Given the description of an element on the screen output the (x, y) to click on. 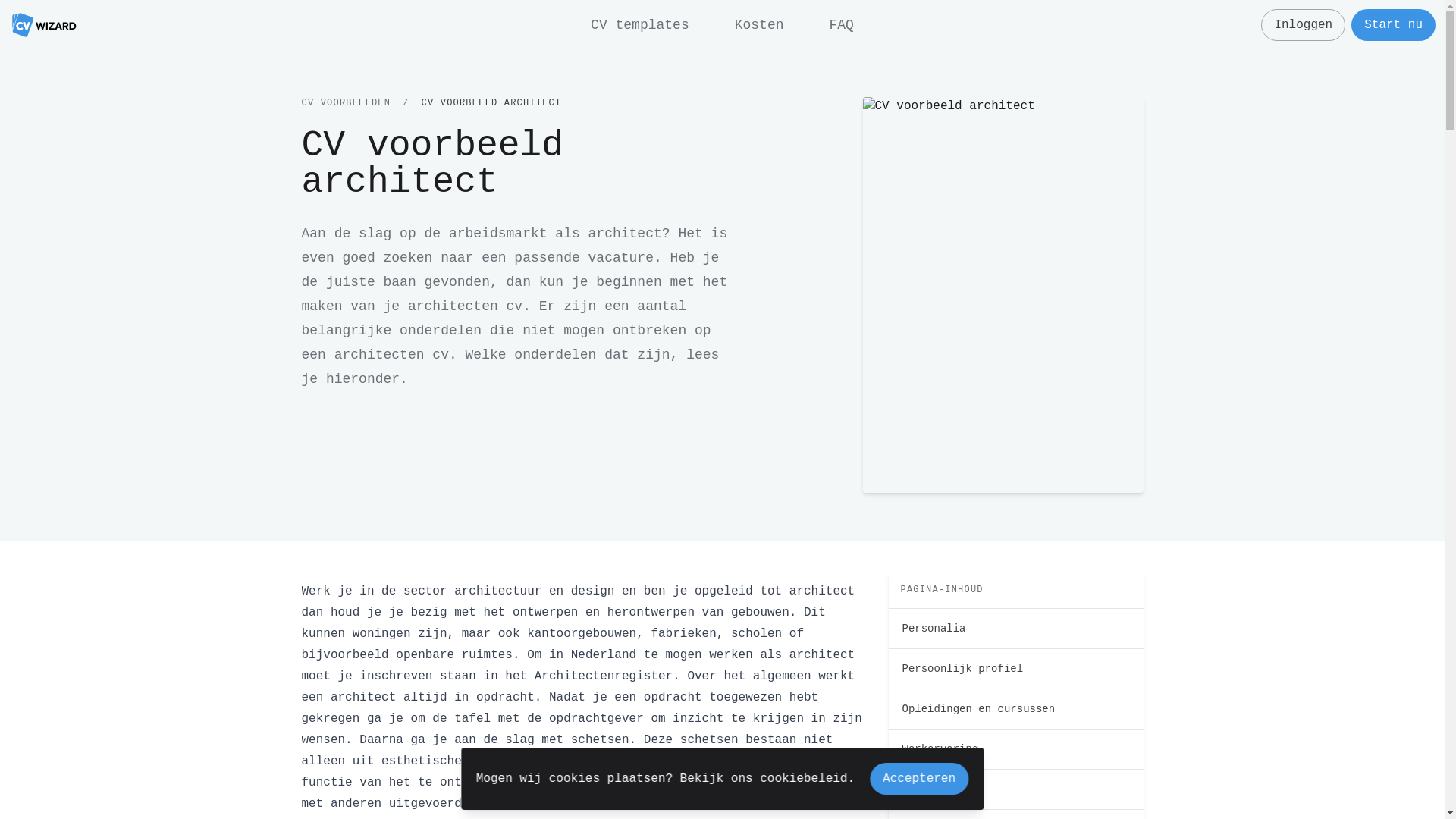
Werkervaring Element type: text (1015, 748)
Start nu Element type: text (1393, 24)
CV templates Element type: text (639, 24)
Accepteren Element type: text (918, 778)
Opleidingen en cursussen Element type: text (1015, 708)
Persoonlijk profiel Element type: text (1015, 668)
FAQ Element type: text (841, 24)
Kosten Element type: text (759, 24)
cookiebeleid Element type: text (803, 778)
Portfolio Element type: text (1015, 789)
Inloggen Element type: text (1303, 24)
Personalia Element type: text (1015, 628)
CV VOORBEELDEN Element type: text (346, 102)
